Given the description of an element on the screen output the (x, y) to click on. 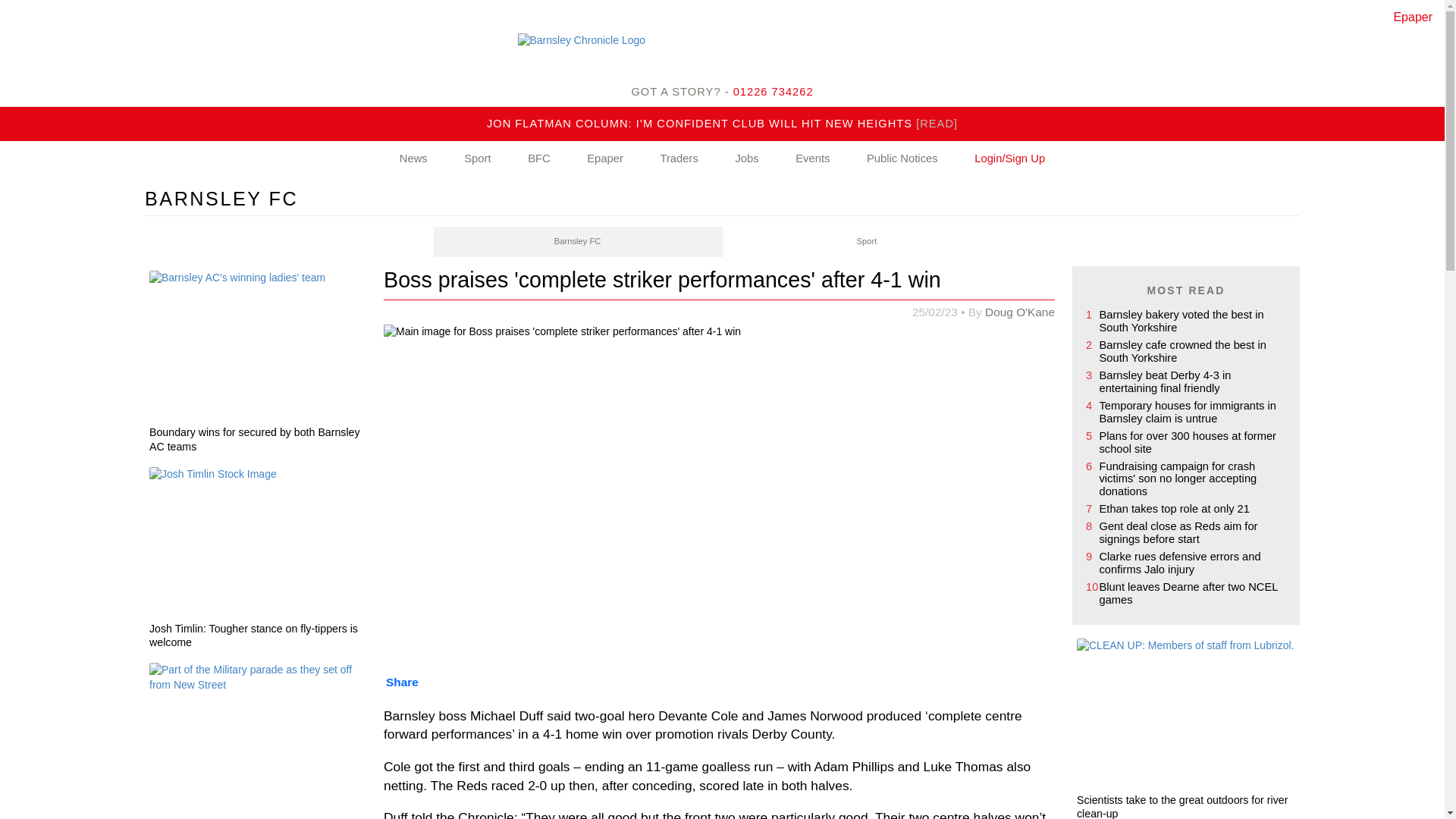
Sport (477, 158)
BARNSLEY FC (221, 198)
Sport (866, 241)
01226 734262 (773, 91)
Jobs (745, 158)
Events (812, 158)
News (413, 158)
Public Notices (902, 158)
Boundary wins for secured by both Barnsley AC teams (258, 441)
Traders (678, 158)
Epaper (1412, 16)
Barnsley FC (577, 241)
Epaper (604, 158)
BFC (539, 158)
